Given the description of an element on the screen output the (x, y) to click on. 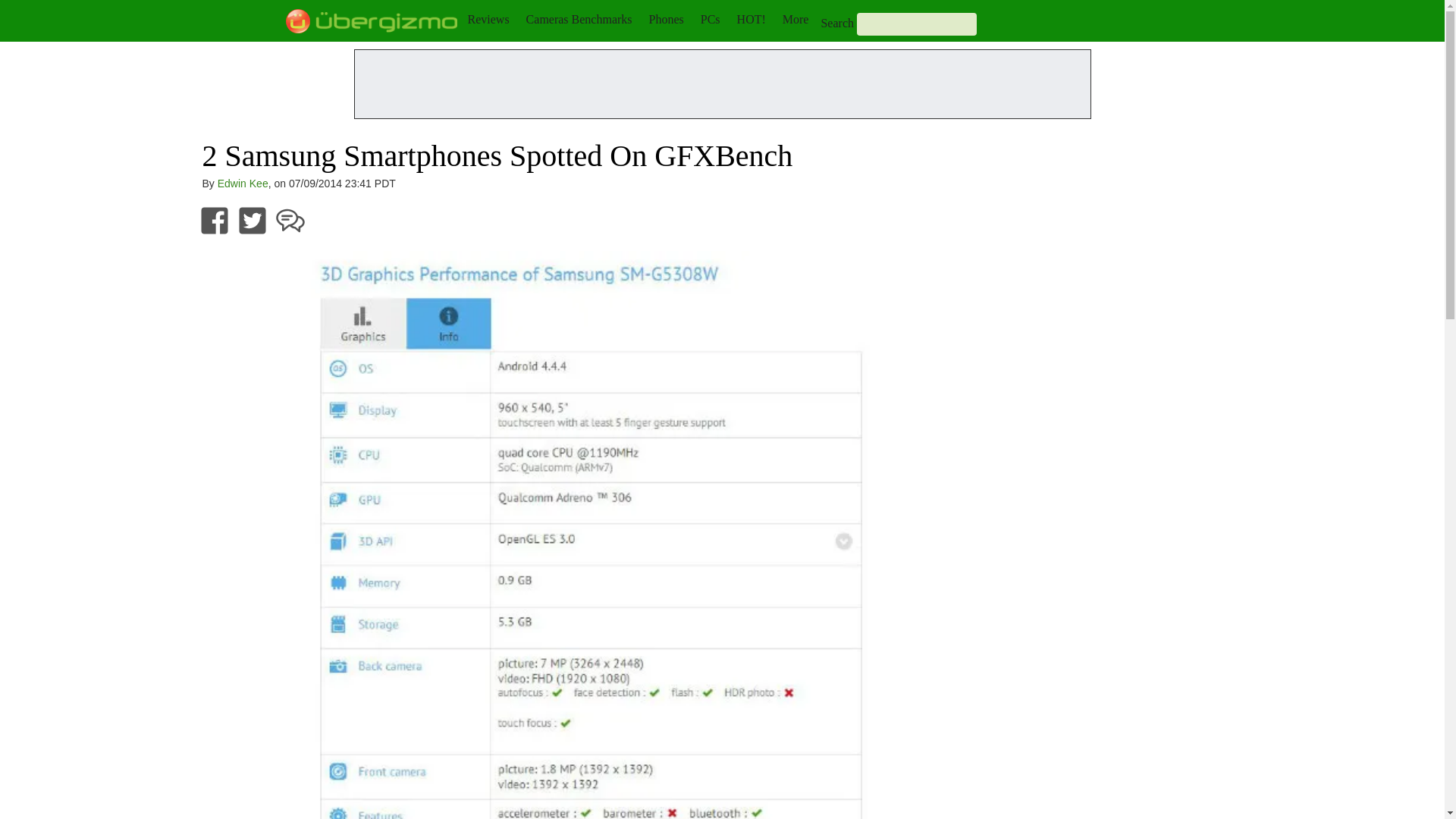
Cameras Benchmarks (578, 19)
Reviews (487, 19)
Phones (666, 19)
PCs (710, 19)
